Given the description of an element on the screen output the (x, y) to click on. 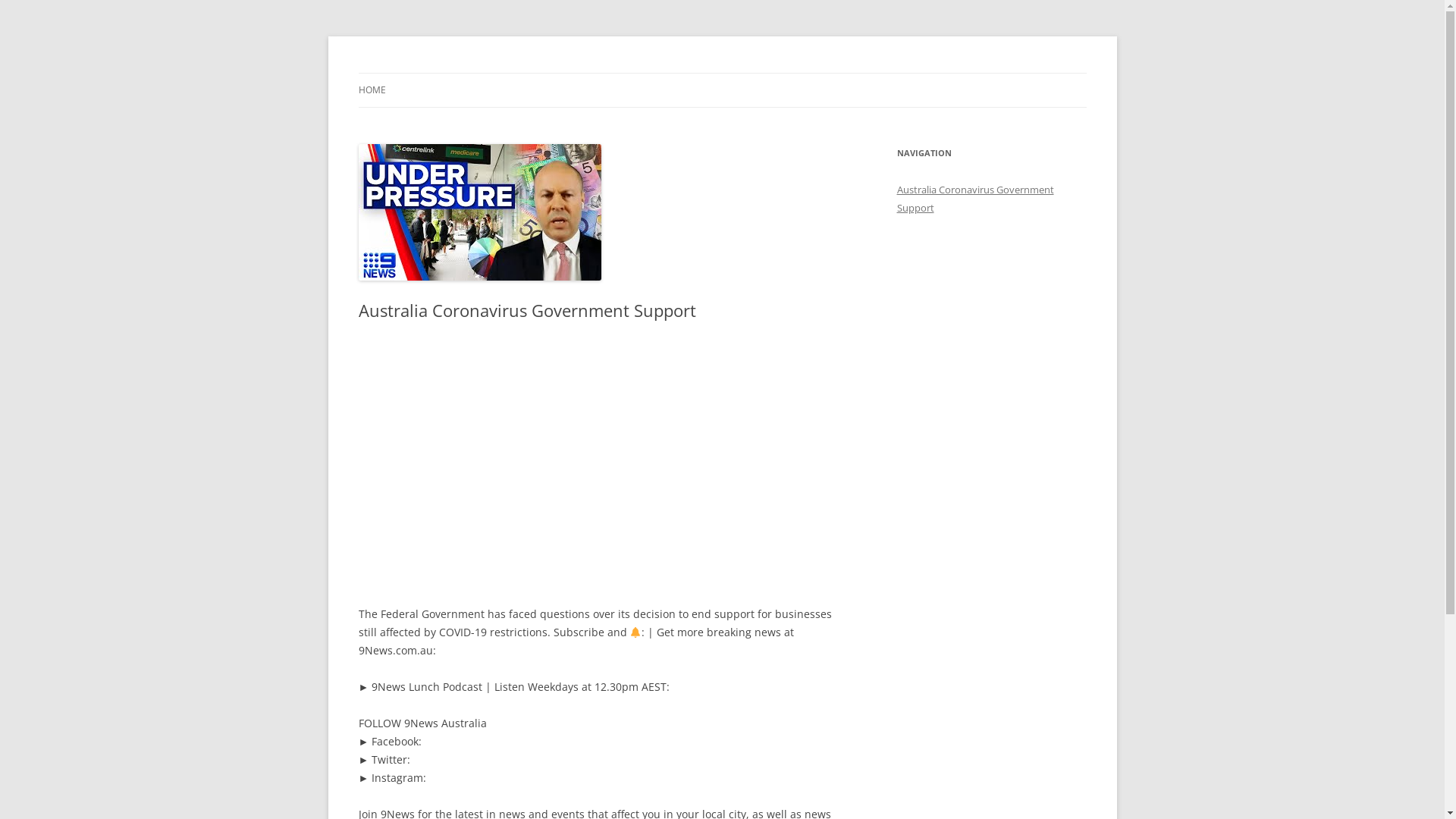
HOME Element type: text (371, 89)
Skip to content Element type: text (721, 72)
Australia Coronavirus Government Support Element type: text (974, 198)
Coronavirus Update 2020-21 | Hunhenden H. Element type: text (576, 72)
